Given the description of an element on the screen output the (x, y) to click on. 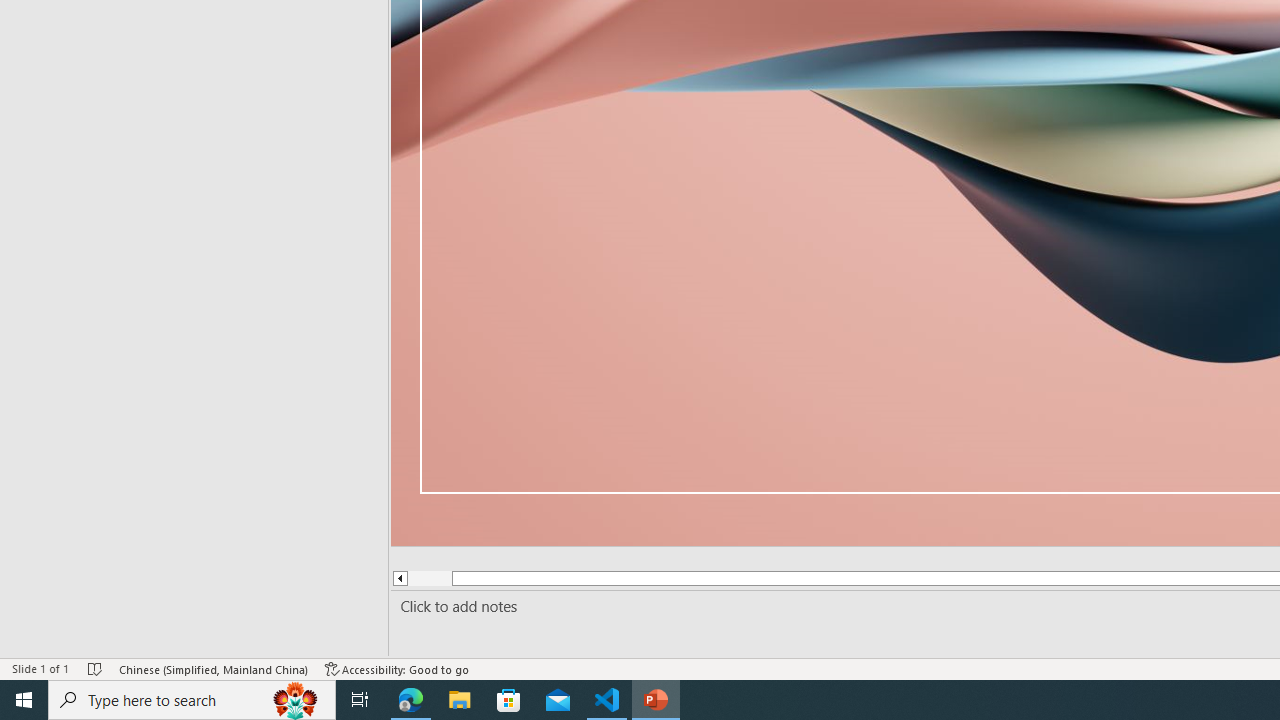
Accessibility Checker Accessibility: Good to go (397, 668)
